Given the description of an element on the screen output the (x, y) to click on. 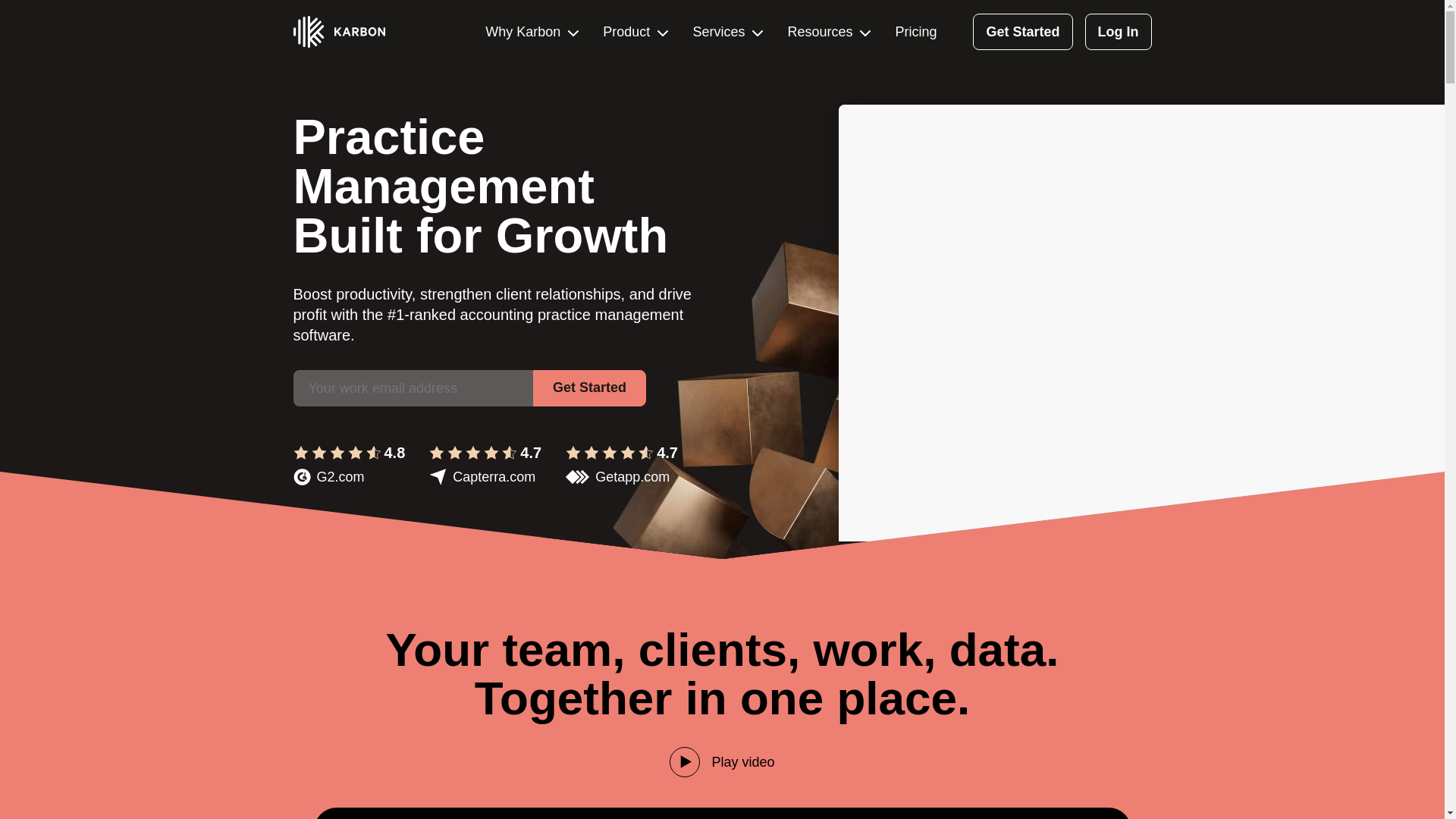
Resources (828, 31)
Services (727, 31)
Why Karbon (531, 31)
Karbon Logo (338, 31)
Product (635, 31)
